Given the description of an element on the screen output the (x, y) to click on. 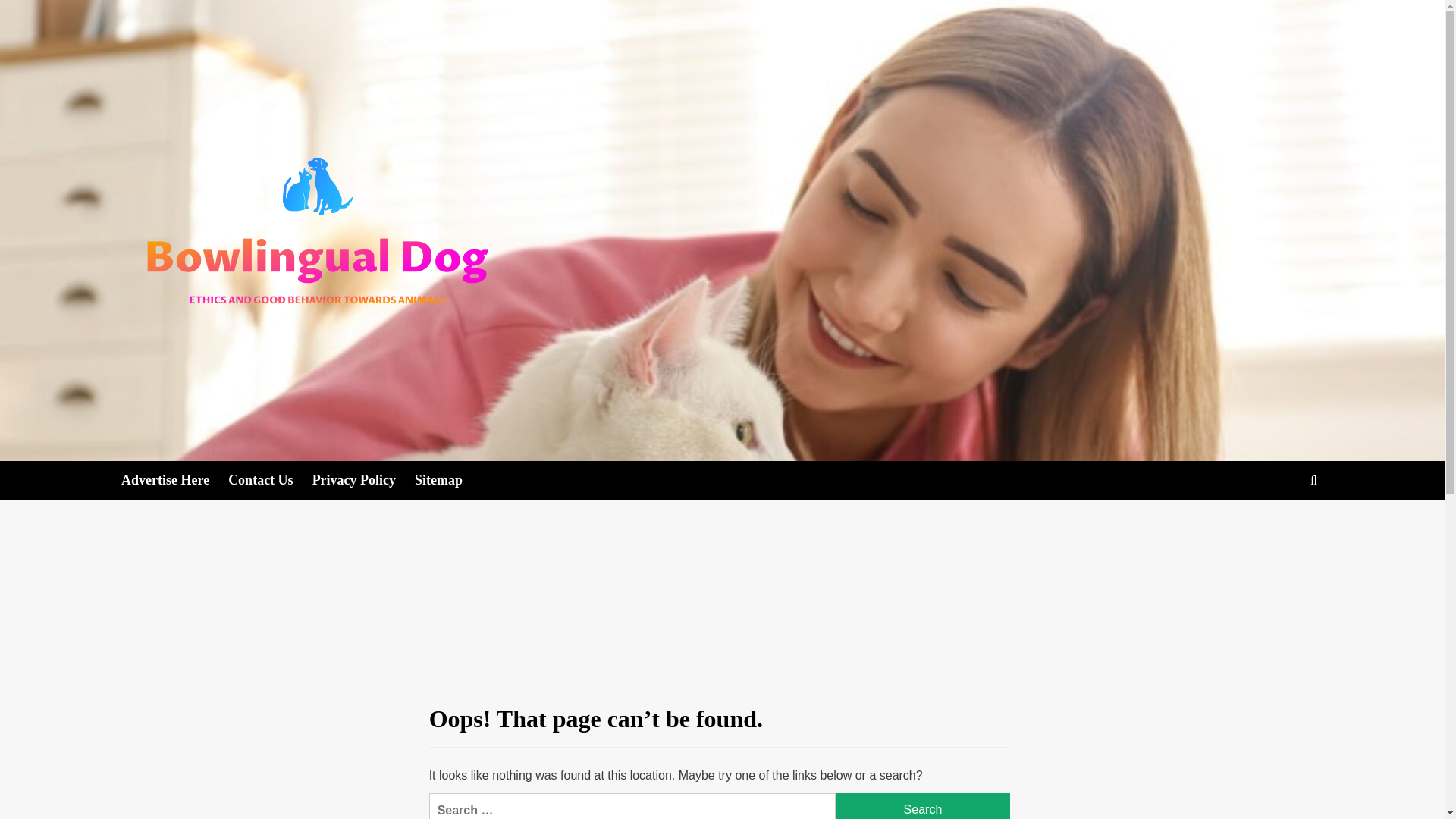
Advertise Here (174, 480)
Privacy Policy (363, 480)
Search (1278, 527)
Sitemap (447, 480)
Search (922, 806)
Contact Us (270, 480)
Search (922, 806)
Search (1313, 479)
Search (922, 806)
